Given the description of an element on the screen output the (x, y) to click on. 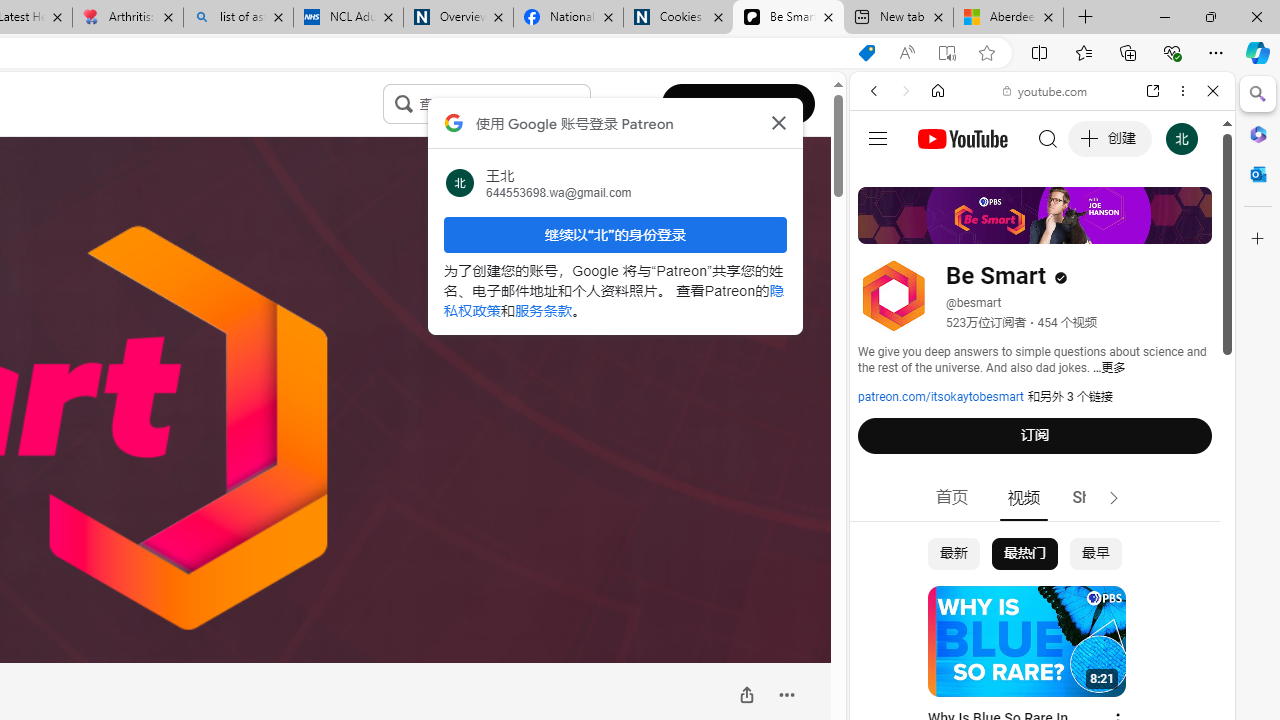
Shopping in Microsoft Edge (867, 53)
#you (1042, 445)
Music (1042, 543)
SEARCH TOOLS (1093, 228)
WEB   (882, 228)
Enter Immersive Reader (F9) (946, 53)
Class: b_serphb (1190, 229)
Google (1042, 494)
Close Customize pane (1258, 239)
list of asthma inhalers uk - Search (238, 17)
